Given the description of an element on the screen output the (x, y) to click on. 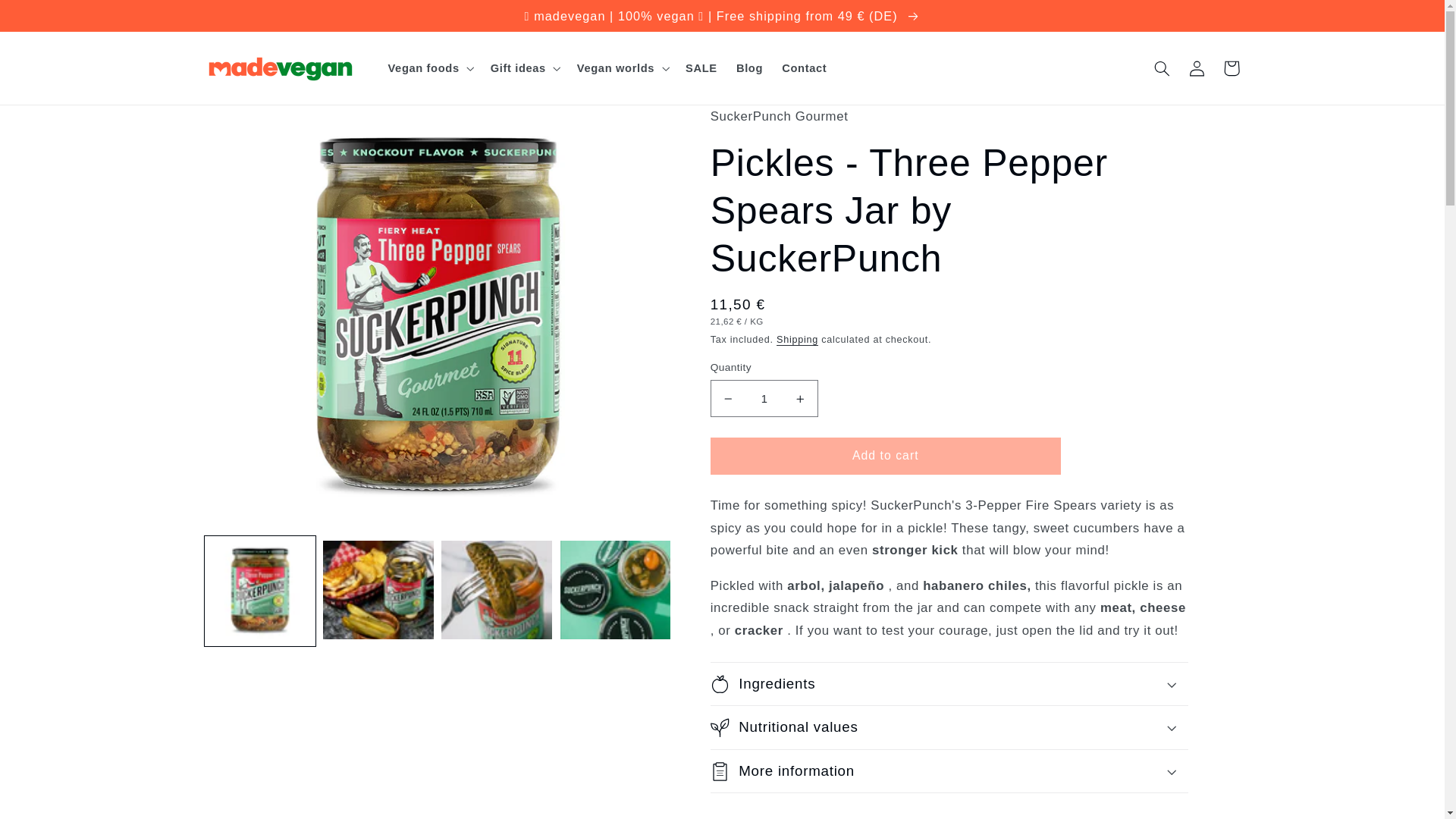
1 (764, 398)
Skip to content (48, 18)
